Given the description of an element on the screen output the (x, y) to click on. 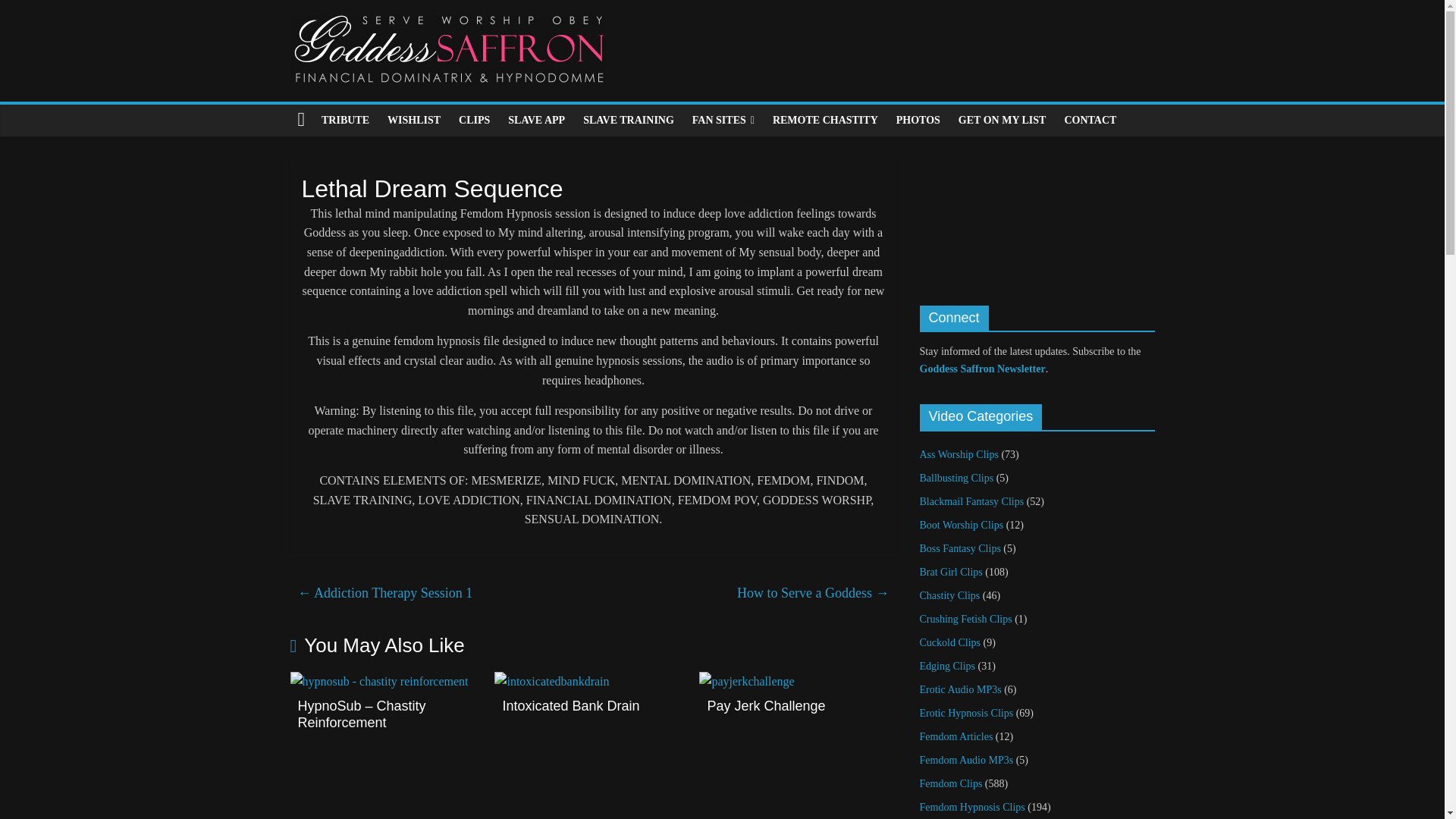
Intoxicated Bank Drain (570, 705)
SLAVE TRAINING (627, 120)
CLIPS (474, 120)
Intoxicated Bank Drain (551, 680)
PHOTOS (917, 120)
SLAVE APP (536, 120)
REMOTE CHASTITY (824, 120)
TRIBUTE (345, 120)
Pay Jerk Challenge (765, 705)
CONTACT (1089, 120)
